Given the description of an element on the screen output the (x, y) to click on. 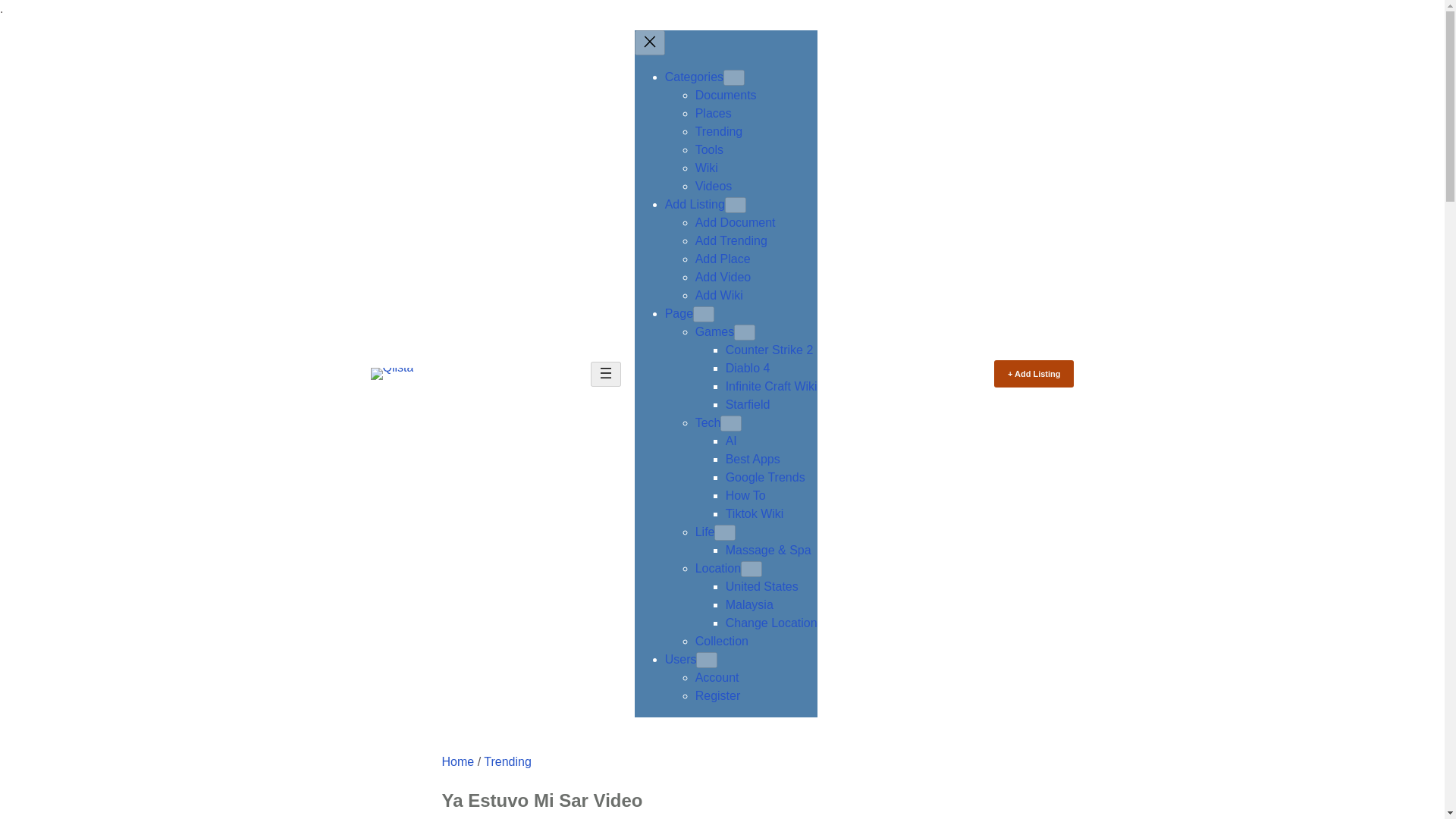
Malaysia (749, 604)
Add Wiki (718, 295)
United States (761, 585)
Trending (718, 131)
Infinite Craft Wiki (770, 386)
How To (745, 495)
Categories (694, 76)
Page (679, 313)
Add Listing (695, 204)
Games (715, 331)
Tech (707, 422)
Add Place (723, 258)
Wiki (706, 167)
Places (713, 113)
Add Video (723, 277)
